Given the description of an element on the screen output the (x, y) to click on. 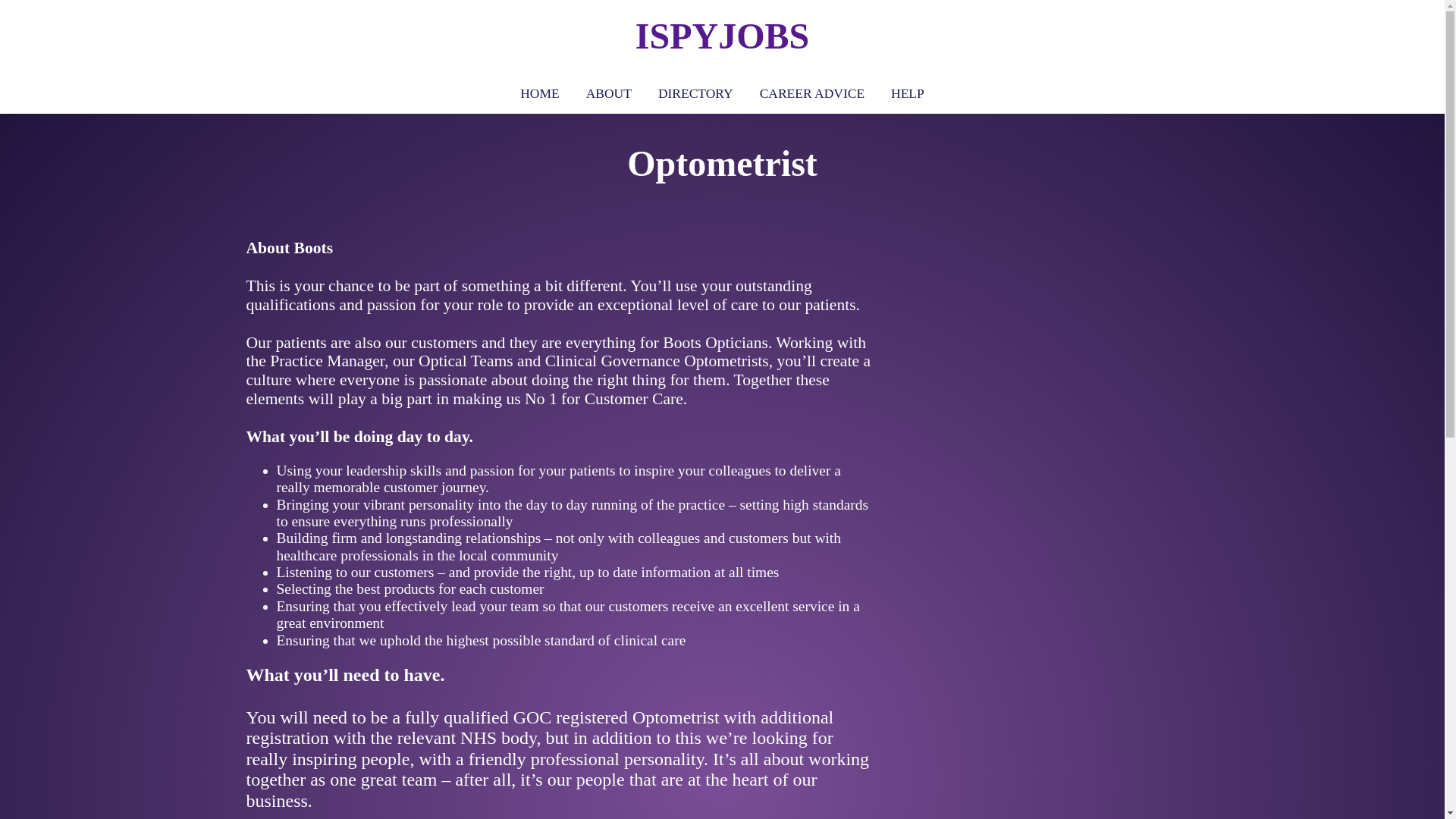
ISPYJOBS (722, 36)
CAREER ADVICE (811, 92)
DIRECTORY (695, 92)
HOME (539, 92)
ABOUT (608, 92)
HELP (907, 92)
